Given the description of an element on the screen output the (x, y) to click on. 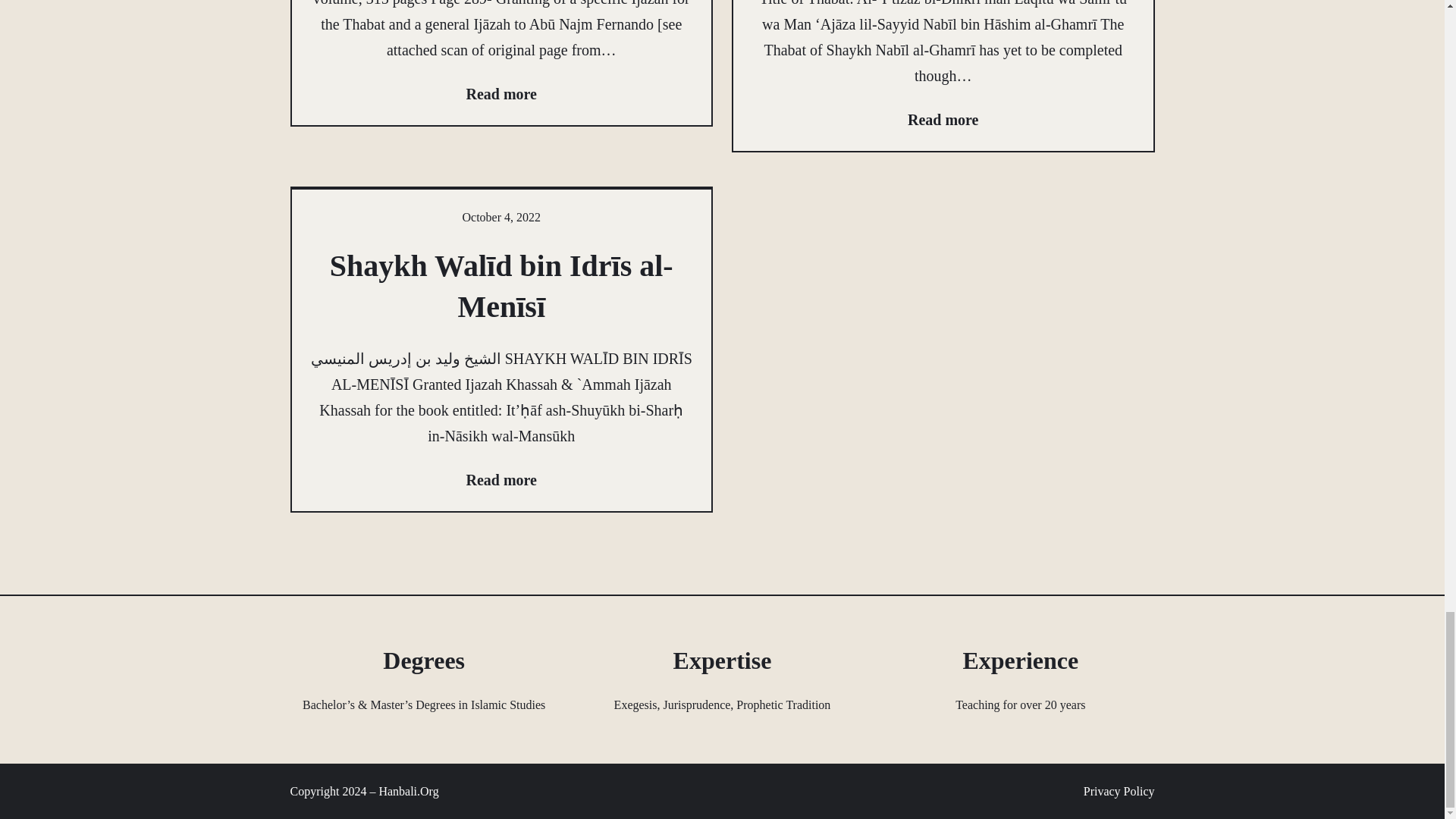
Read more (501, 479)
Read more (942, 119)
Privacy Policy (1118, 791)
Read more (501, 94)
